Given the description of an element on the screen output the (x, y) to click on. 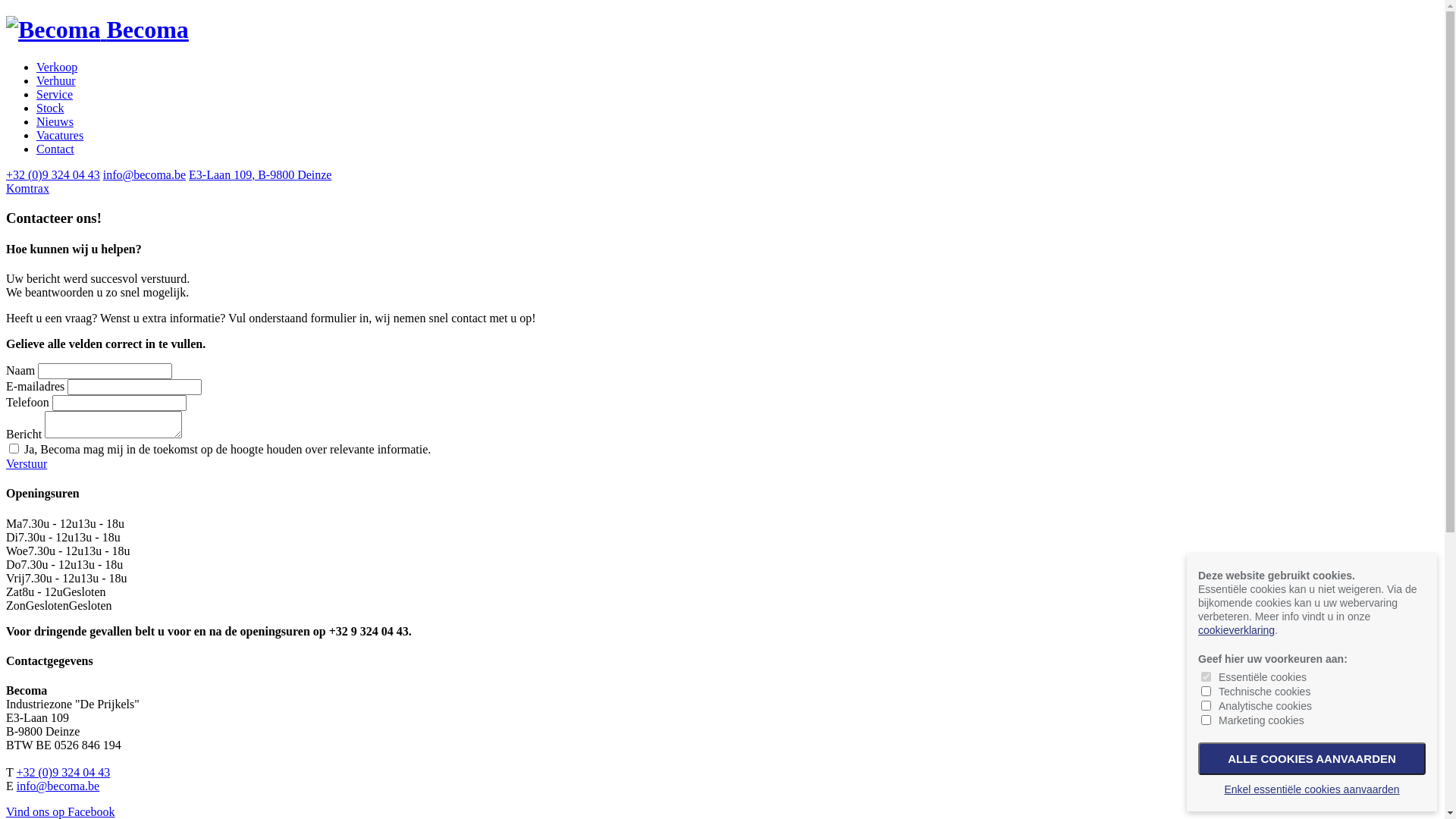
Stock Element type: text (49, 107)
Service Element type: text (54, 93)
Komtrax Element type: text (27, 188)
E3-Laan 109, B-9800 Deinze Element type: text (259, 174)
ALLE COOKIES AANVAARDEN Element type: text (1311, 758)
Vind ons op Facebook Element type: text (60, 811)
+32 (0)9 324 04 43 Element type: text (62, 771)
+32 (0)9 324 04 43 Element type: text (53, 174)
info@becoma.be Element type: text (57, 785)
Contact Element type: text (55, 148)
Vacatures Element type: text (59, 134)
Verstuur Element type: text (26, 463)
Verkoop Element type: text (56, 66)
Nieuws Element type: text (54, 121)
info@becoma.be Element type: text (144, 174)
Verhuur Element type: text (55, 80)
Becoma Element type: hover (53, 29)
cookieverklaring Element type: text (1236, 630)
Becoma Element type: text (97, 29)
